Given the description of an element on the screen output the (x, y) to click on. 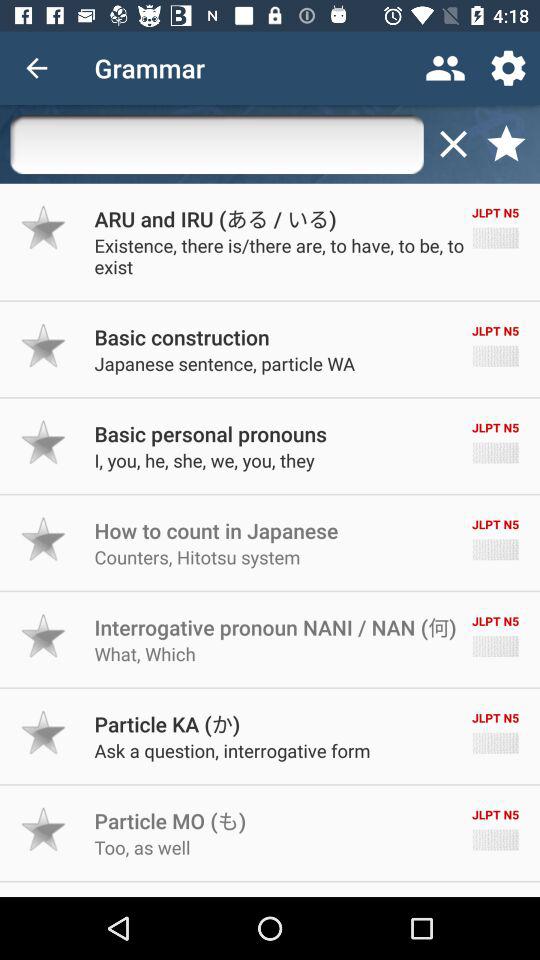
tap icon to the left of the jlpt n5 icon (181, 336)
